Given the description of an element on the screen output the (x, y) to click on. 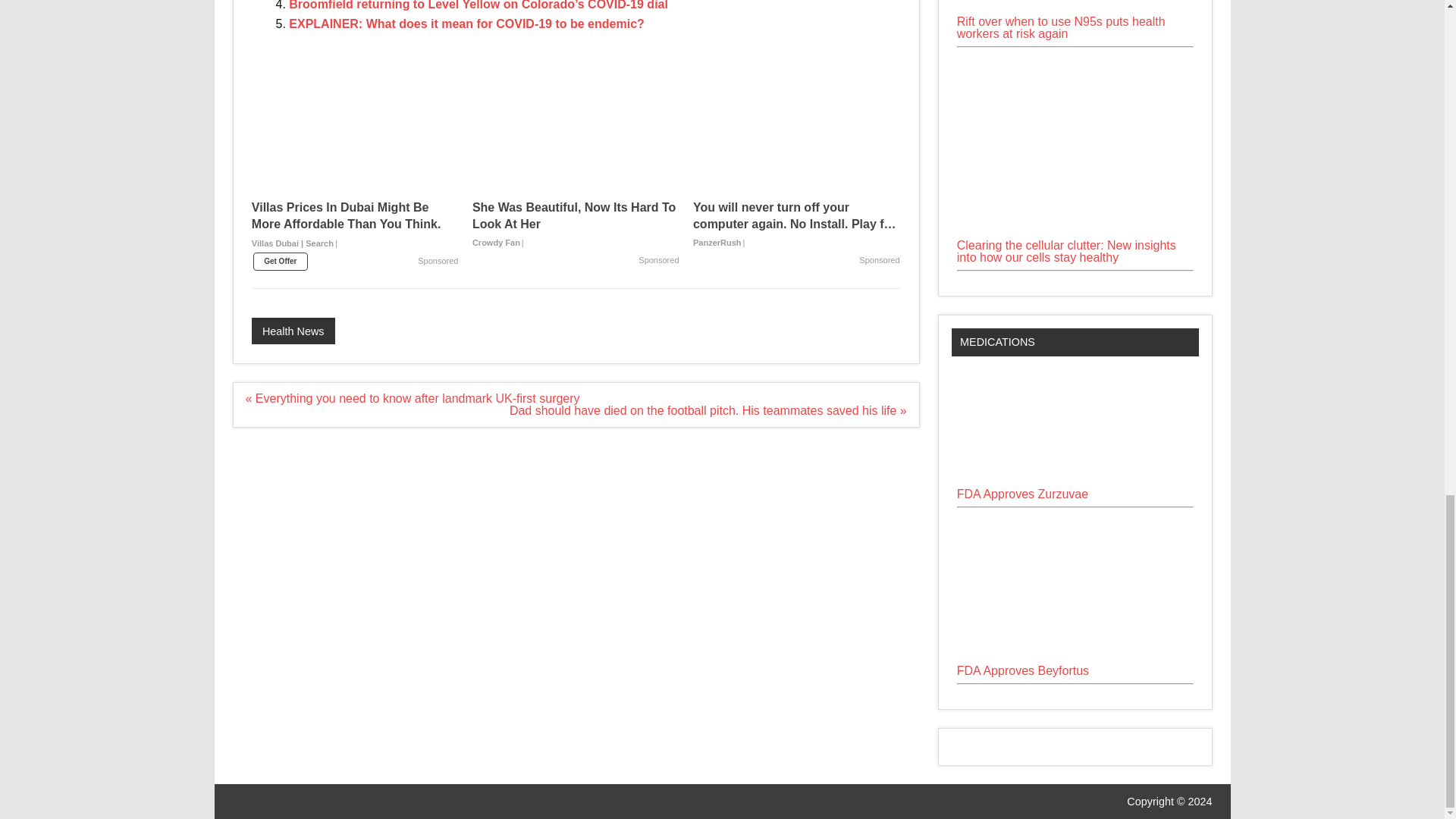
Sponsored (437, 261)
Sponsored (879, 260)
EXPLAINER: What does it mean for COVID-19 to be endemic? (466, 23)
Health News (292, 330)
She Was Beautiful, Now Its Hard To Look At Her (575, 224)
She Was Beautiful, Now Its Hard To Look At Her (575, 136)
Sponsored (658, 260)
Get Offer (280, 261)
EXPLAINER: What does it mean for COVID-19 to be endemic? (466, 23)
